Given the description of an element on the screen output the (x, y) to click on. 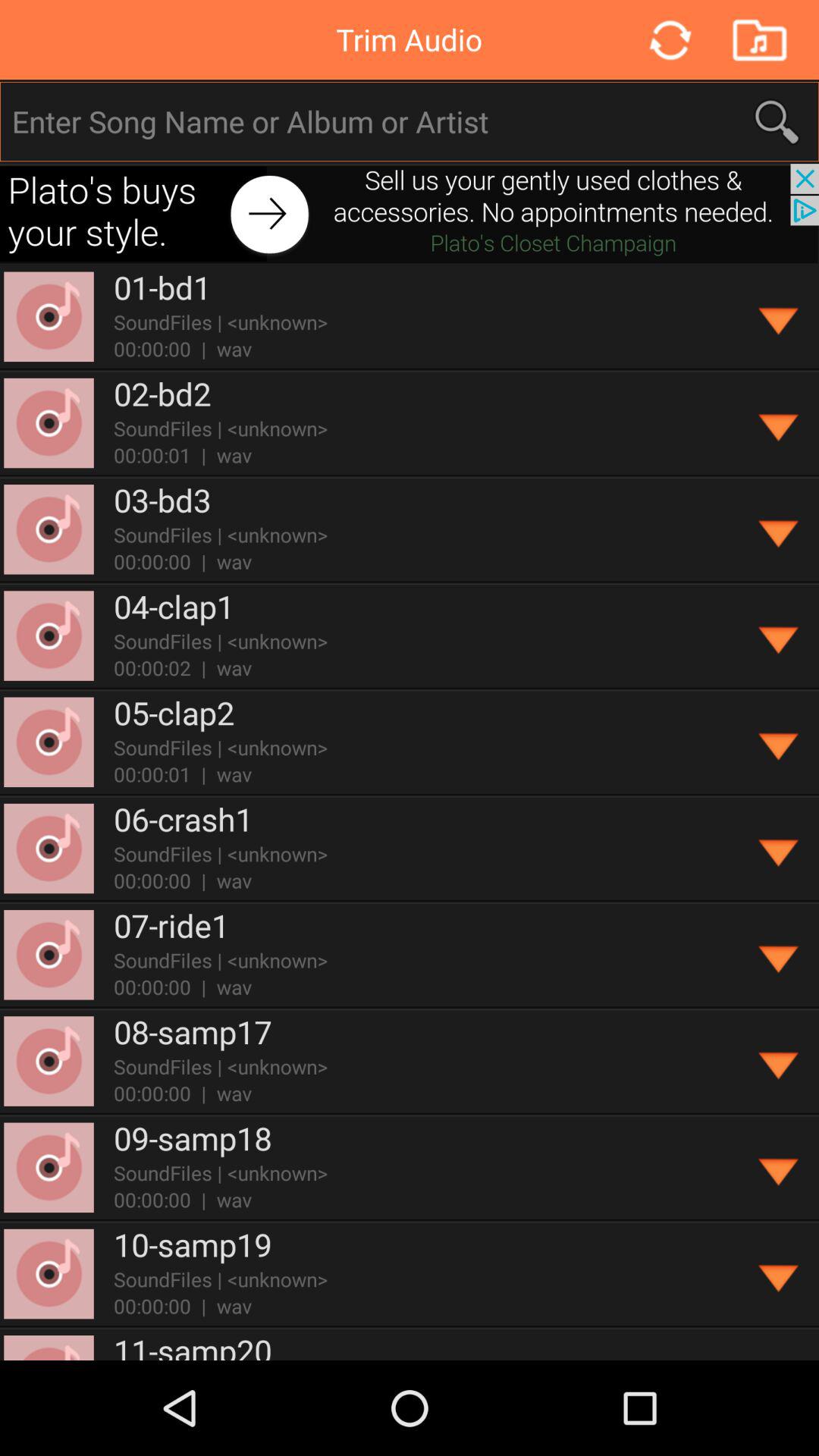
click to download (779, 1167)
